Given the description of an element on the screen output the (x, y) to click on. 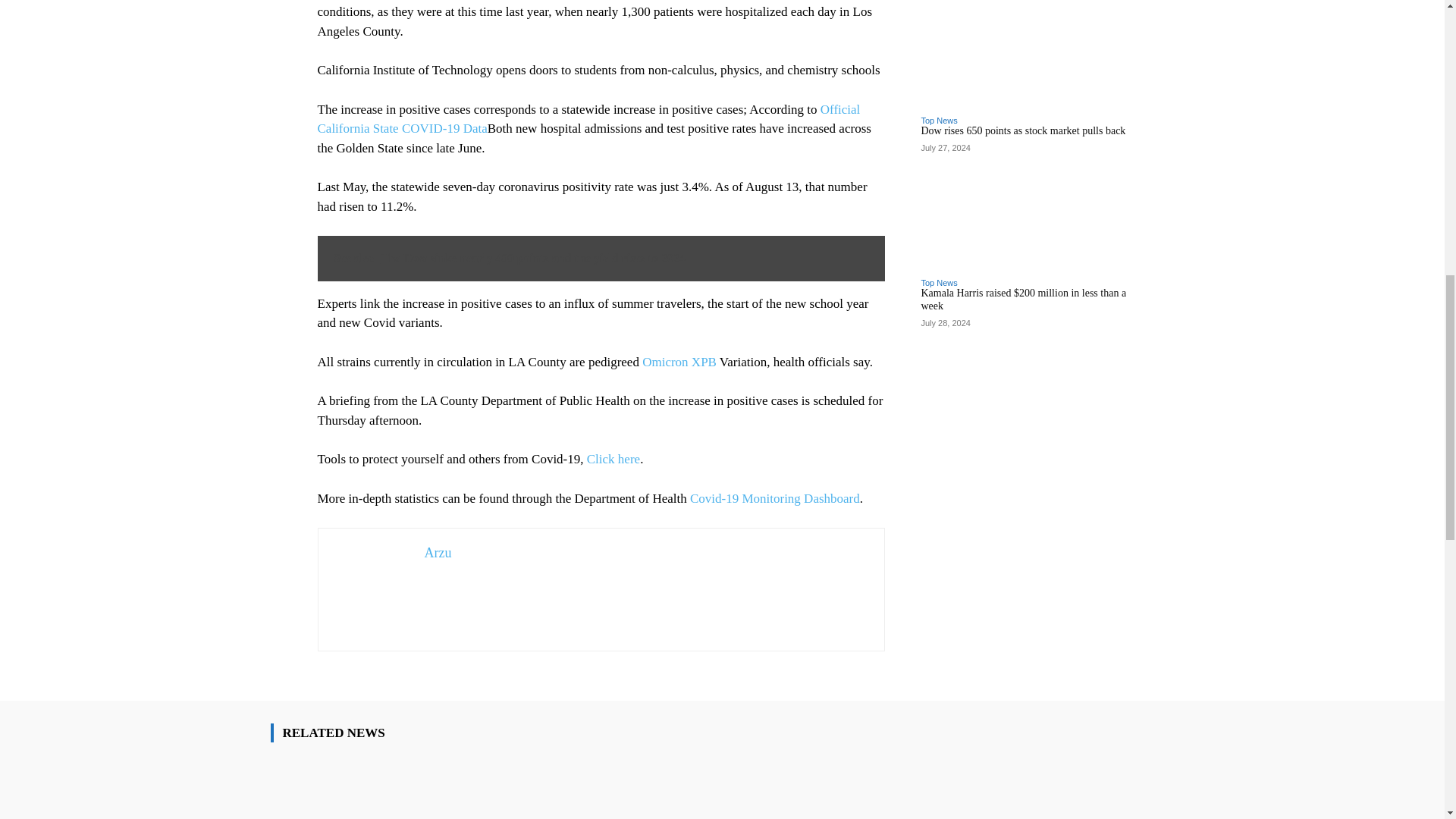
Official California State COVID-19 Data (588, 119)
Omicron XPB (679, 361)
